Given the description of an element on the screen output the (x, y) to click on. 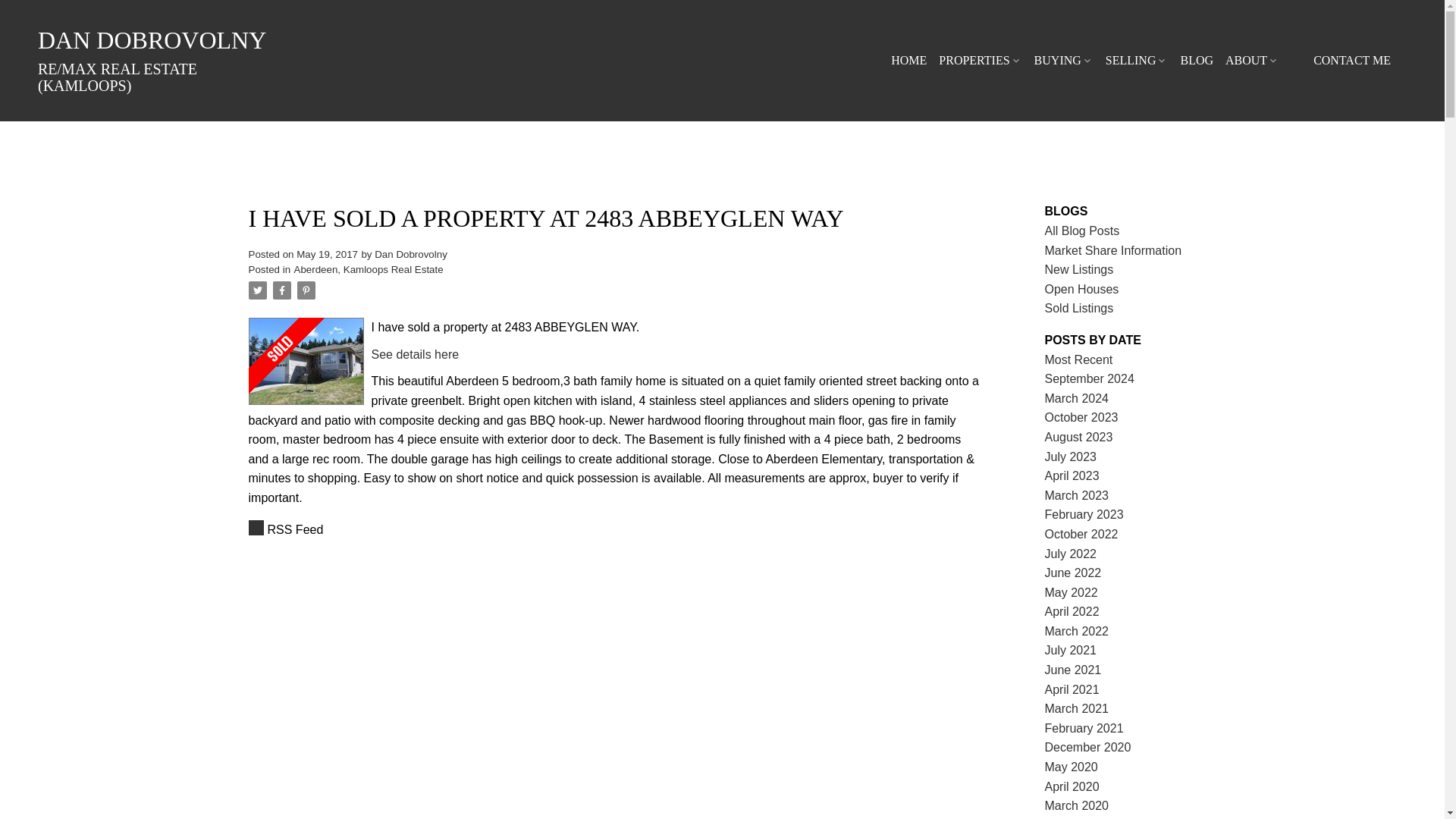
October 2023 (1081, 417)
RSS (616, 529)
CONTACT ME (1351, 60)
Market Share Information (1113, 250)
April 2023 (1072, 475)
Most Recent (1079, 359)
New Listings (1079, 269)
March 2024 (1077, 398)
August 2023 (1079, 436)
February 2023 (1084, 513)
